Given the description of an element on the screen output the (x, y) to click on. 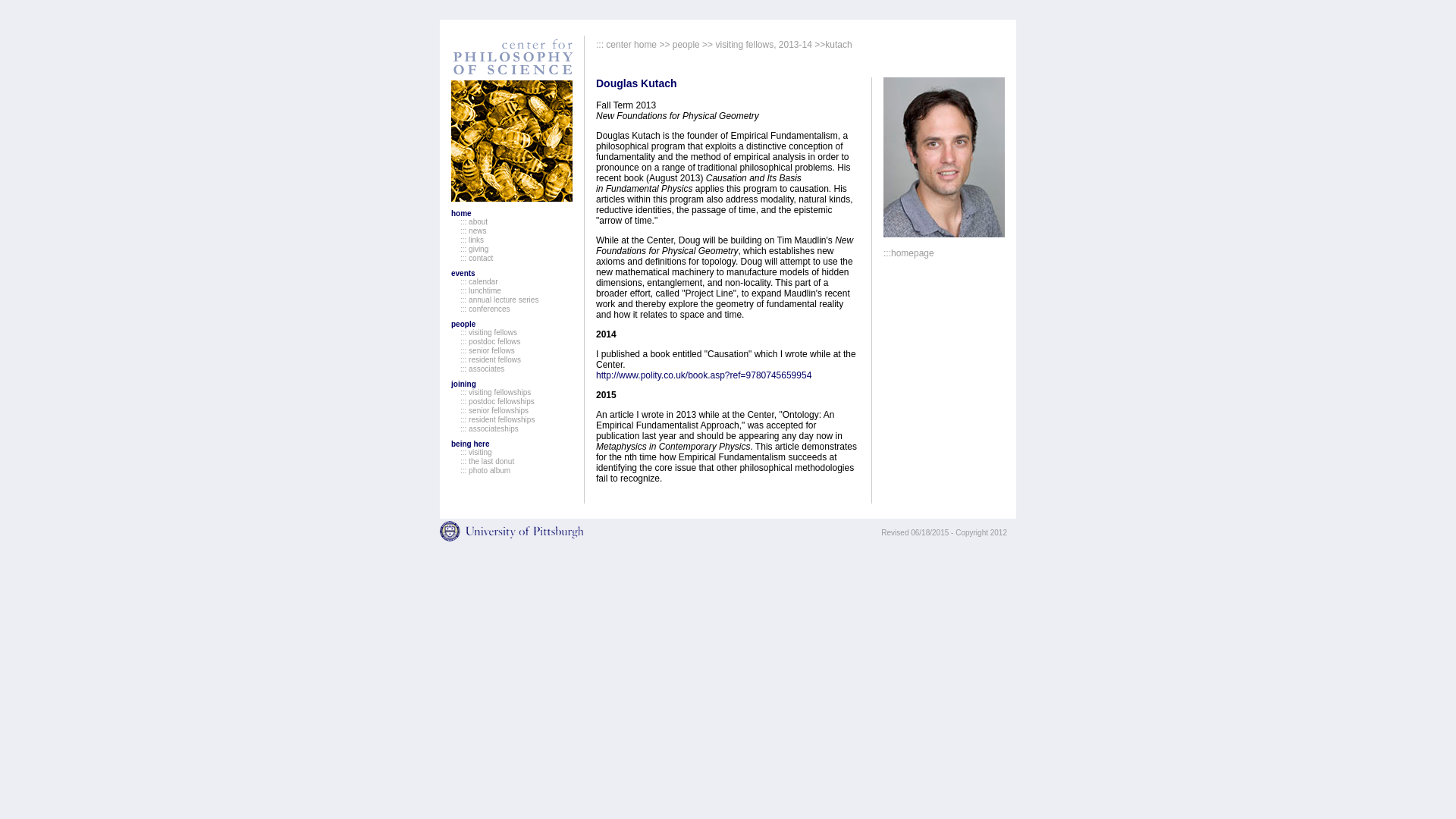
events (463, 273)
being here (470, 443)
::: visiting (476, 451)
::: visiting fellows (488, 332)
::: contact (476, 257)
::: senior fellows (487, 350)
::: the last donut (486, 461)
joining (463, 384)
::: associates (481, 368)
::: lunchtime (480, 290)
::: calendar (478, 281)
::: associateships (489, 429)
::: resident fellowships (497, 419)
people (463, 324)
::: senior fellowships (494, 410)
